Given the description of an element on the screen output the (x, y) to click on. 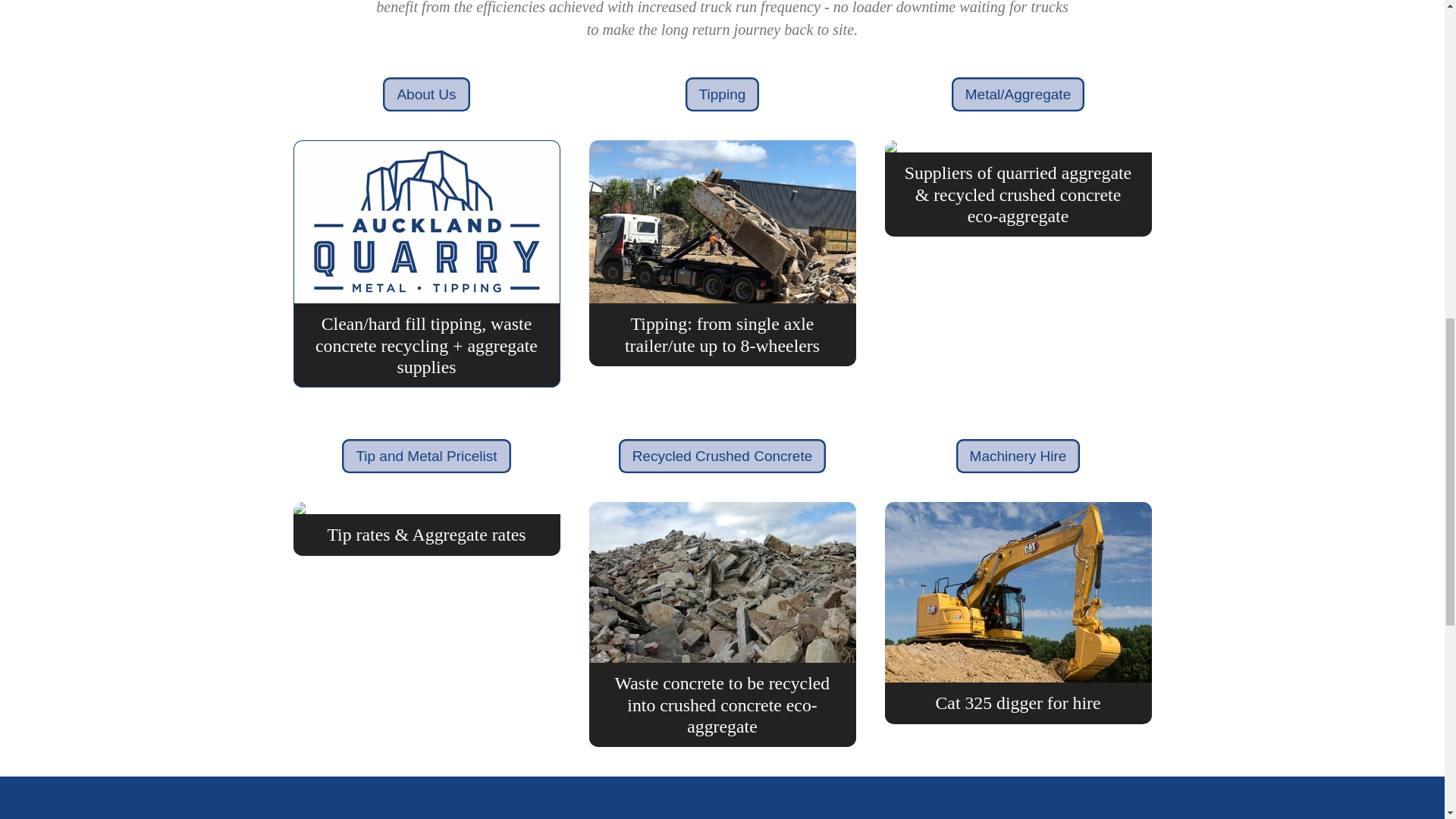
Recycled Crushed Concrete (722, 456)
Tip and Metal Pricelist (426, 456)
About Us (425, 94)
Machinery Hire (1018, 456)
Tipping (722, 94)
